Given the description of an element on the screen output the (x, y) to click on. 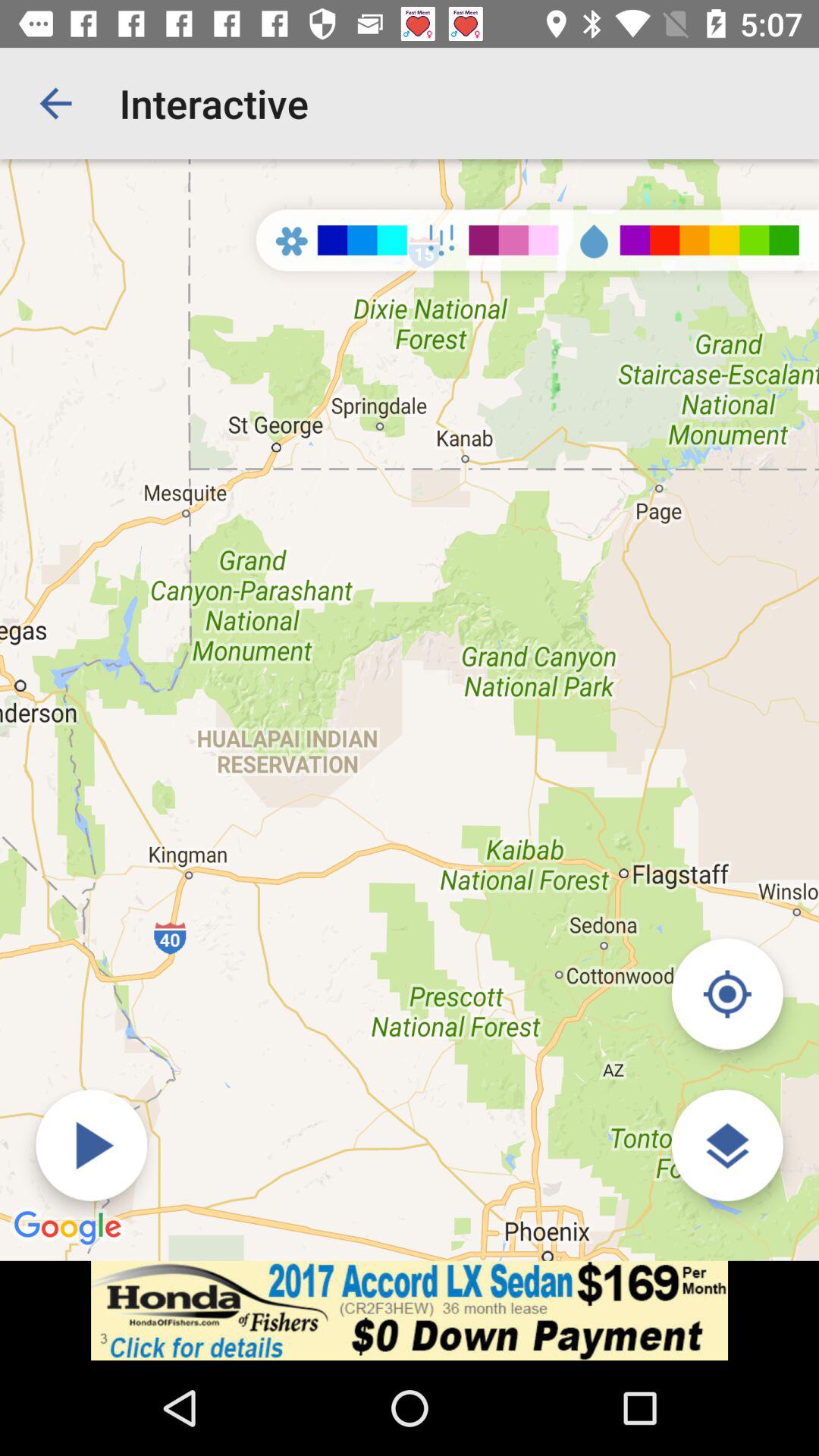
play forecast (91, 1145)
